Given the description of an element on the screen output the (x, y) to click on. 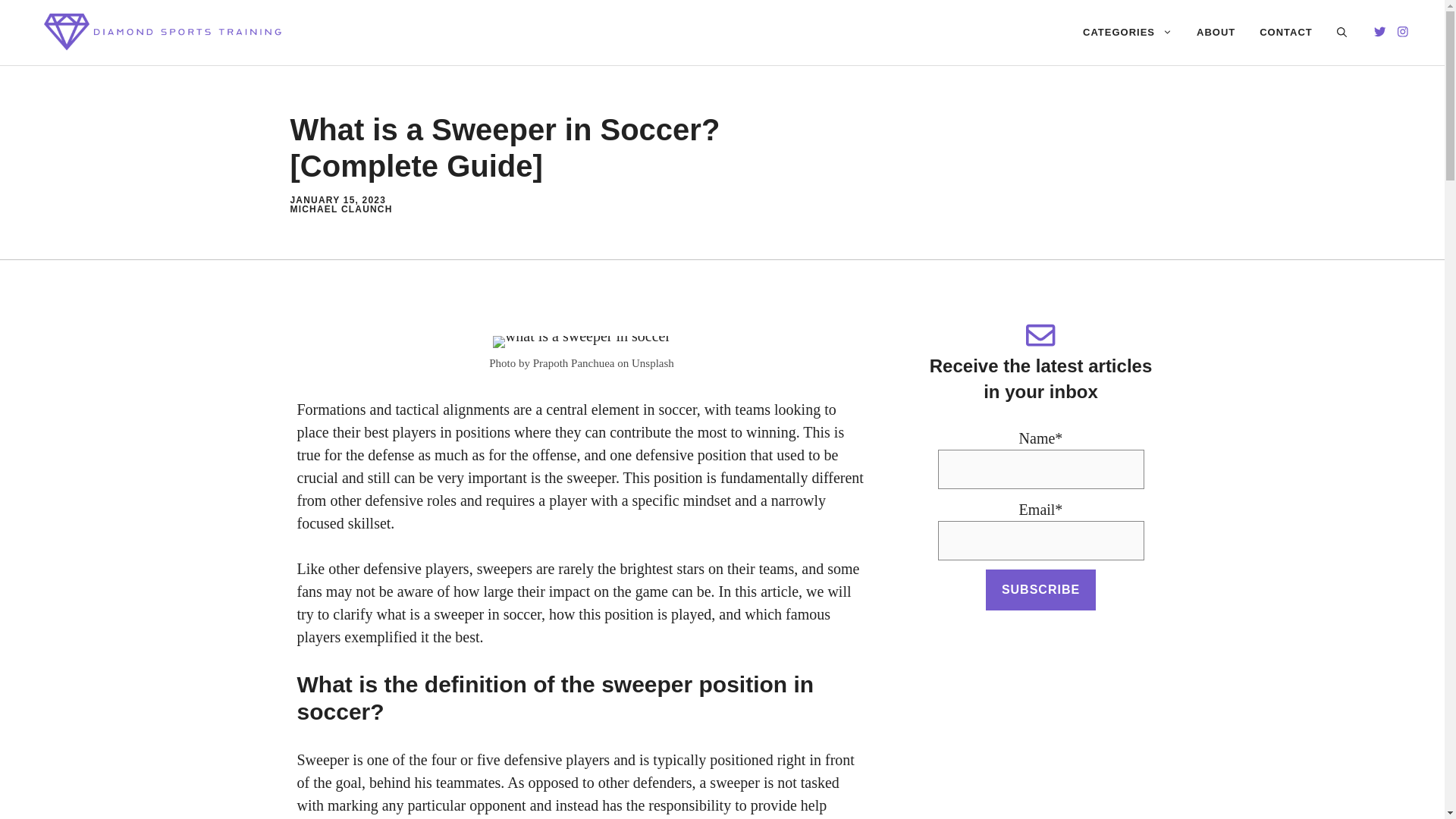
CATEGORIES (1127, 32)
ABOUT (1216, 32)
Subscribe (1040, 589)
CONTACT (1285, 32)
Subscribe (1040, 589)
